Given the description of an element on the screen output the (x, y) to click on. 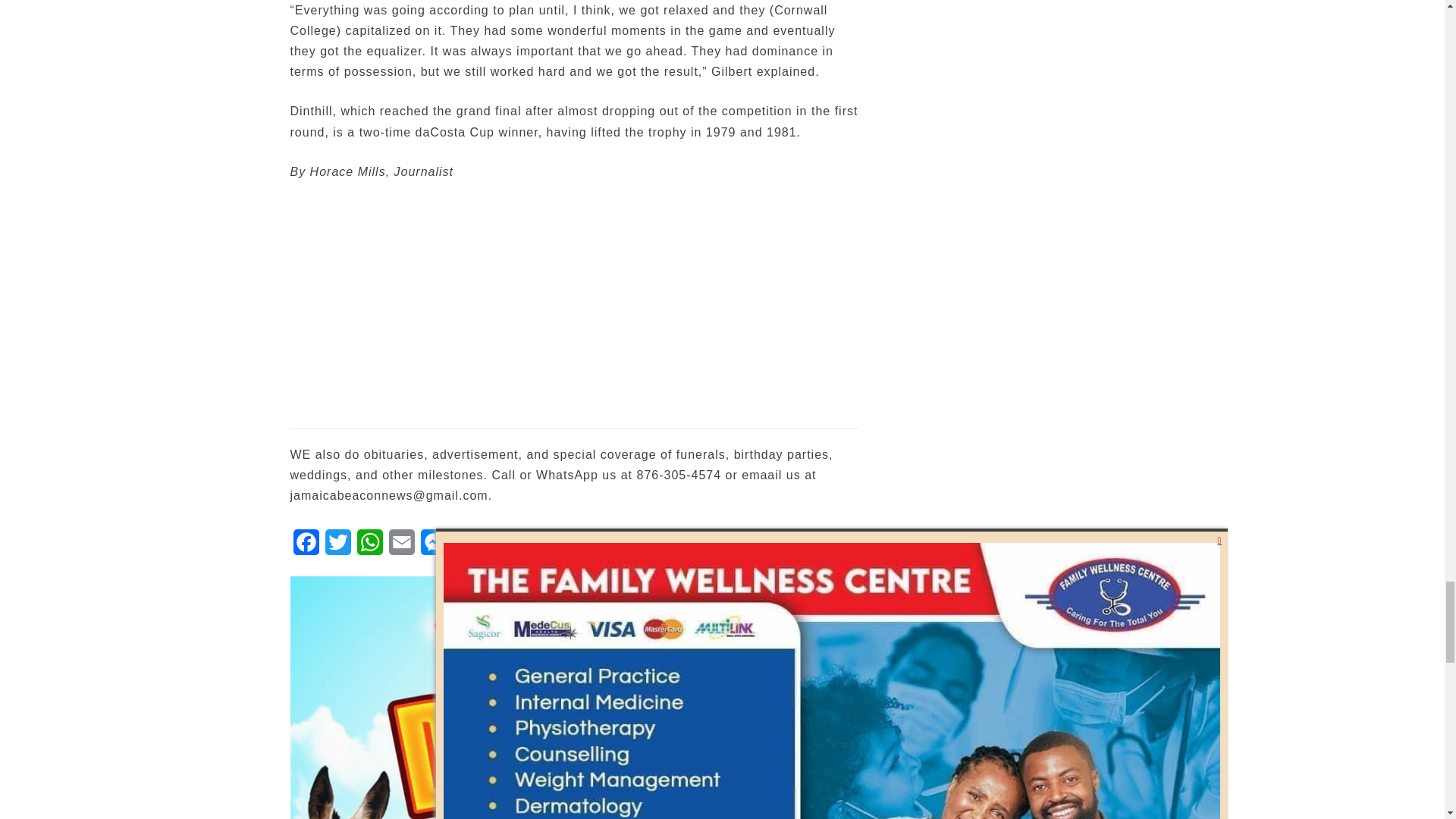
Facebook (305, 546)
Twitter (337, 546)
Facebook (305, 546)
Email (400, 546)
Email (400, 546)
WhatsApp (369, 546)
Twitter (337, 546)
Messenger (432, 546)
Messenger (432, 546)
WhatsApp (369, 546)
